Given the description of an element on the screen output the (x, y) to click on. 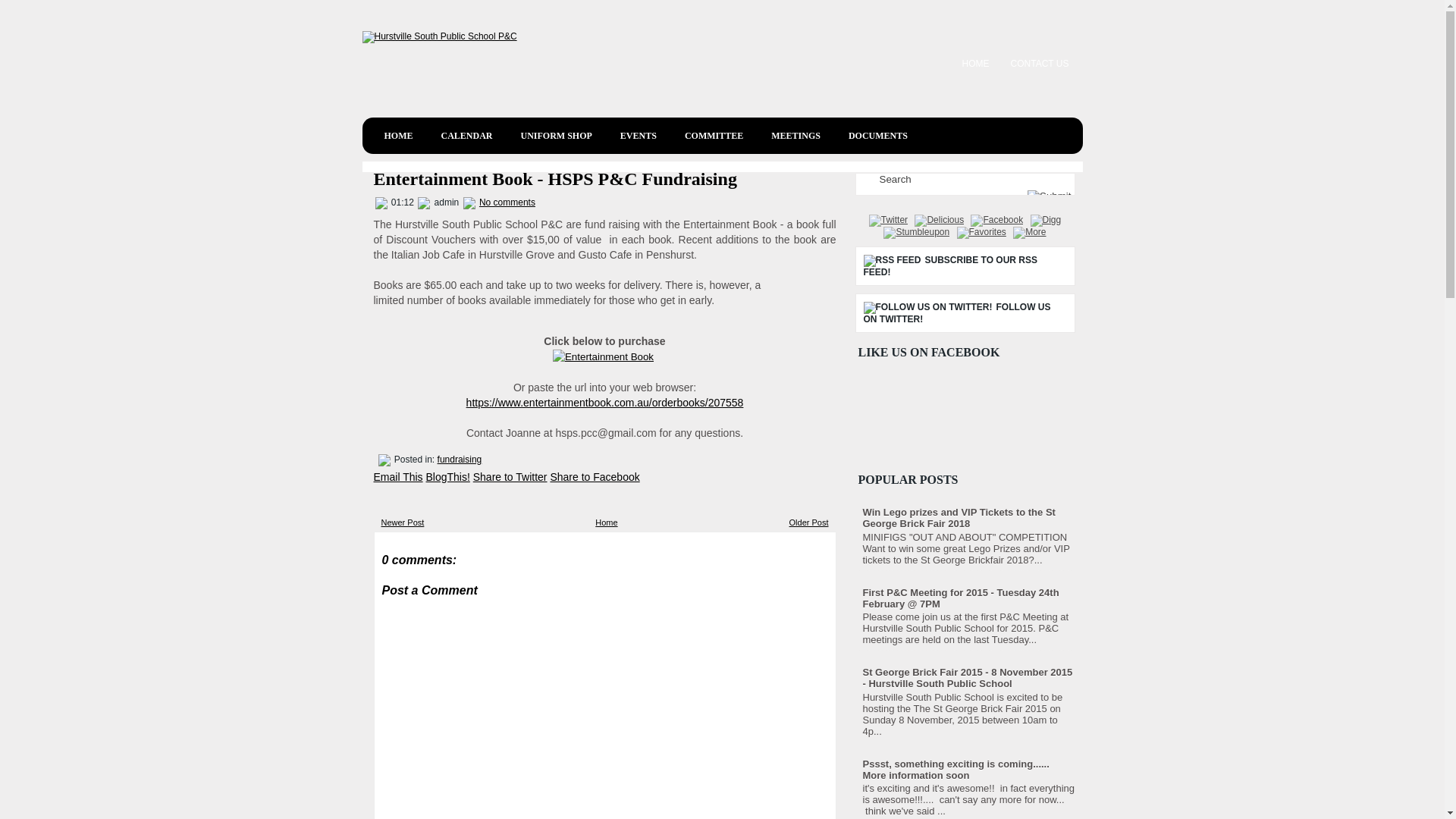
First P&C Meeting for 2015 - Tuesday 24th February @ 7PM Element type: text (960, 597)
https://www.entertainmentbook.com.au/orderbooks/207558 Element type: text (604, 402)
CONTACT US Element type: text (1039, 63)
HOME Element type: text (975, 63)
Home Element type: text (606, 522)
Email This Element type: text (397, 476)
CALENDAR Element type: text (466, 135)
EVENTS Element type: text (638, 135)
Entertainment Book - HSPS P&C Fundraising Element type: text (554, 178)
fundraising Element type: text (459, 459)
BlogThis! Element type: text (447, 476)
Older Post Element type: text (808, 522)
Share to Facebook Element type: text (594, 476)
COMMITTEE Element type: text (713, 135)
FOLLOW US ON TWITTER! Element type: text (956, 312)
DOCUMENTS Element type: text (877, 135)
Newer Post Element type: text (401, 522)
UNIFORM SHOP Element type: text (556, 135)
MEETINGS Element type: text (795, 135)
No comments Element type: text (507, 202)
SUBSCRIBE TO OUR RSS FEED! Element type: text (949, 265)
HOME Element type: text (398, 135)
Share to Twitter Element type: text (510, 476)
Follow Us on Twitter! Element type: hover (926, 307)
RSS Feed Element type: hover (891, 260)
